Given the description of an element on the screen output the (x, y) to click on. 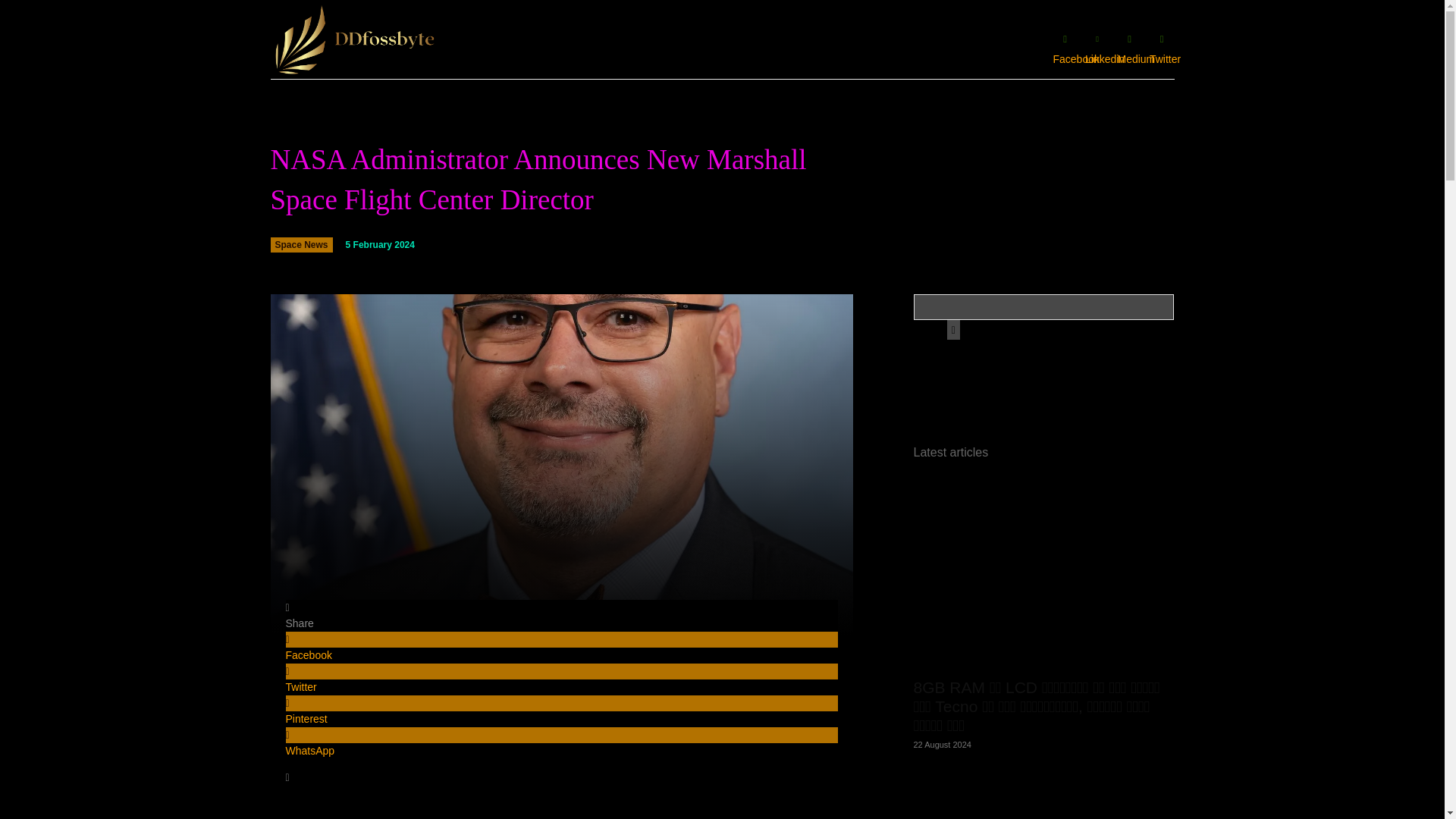
Facebook (561, 647)
Facebook (1064, 39)
Linkedin (1096, 39)
Twitter (1162, 39)
Pinterest (561, 711)
More (561, 777)
Medium (1128, 39)
WhatsApp (561, 743)
Twitter (561, 679)
